Given the description of an element on the screen output the (x, y) to click on. 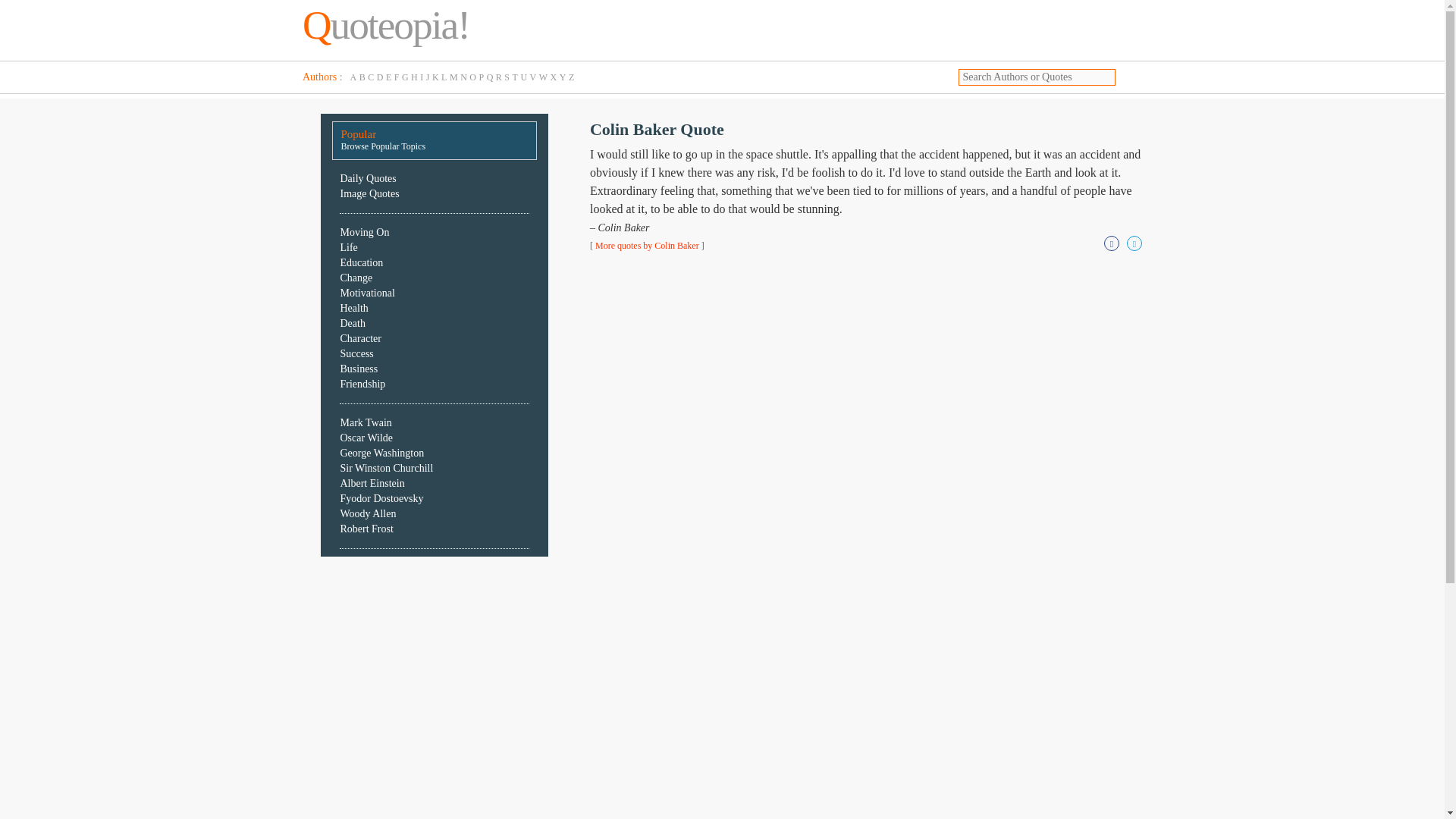
Oscar Wilde Quotes (366, 437)
Albert Einstein Quotes (371, 482)
Education (360, 262)
Life Quotes (347, 247)
Sir Winston Churchill Quotes (385, 468)
s (1131, 76)
Life (347, 247)
Friendship Quotes (362, 383)
Motivational (366, 292)
Health Quotes (353, 307)
Business Quotes (358, 368)
Mark Twain Quotes (365, 422)
Quoteopia! (385, 24)
Death Quotes (352, 323)
Health (353, 307)
